Given the description of an element on the screen output the (x, y) to click on. 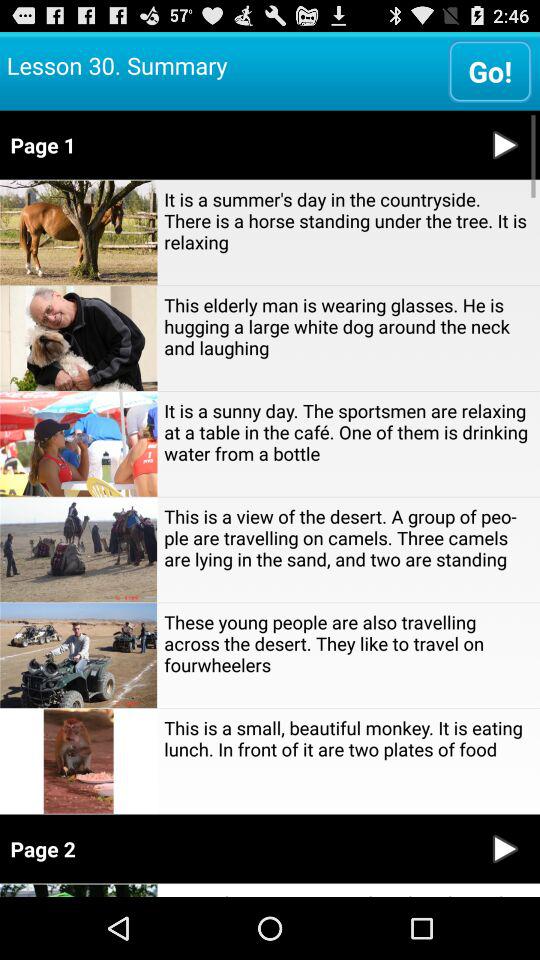
click these young people item (348, 643)
